Given the description of an element on the screen output the (x, y) to click on. 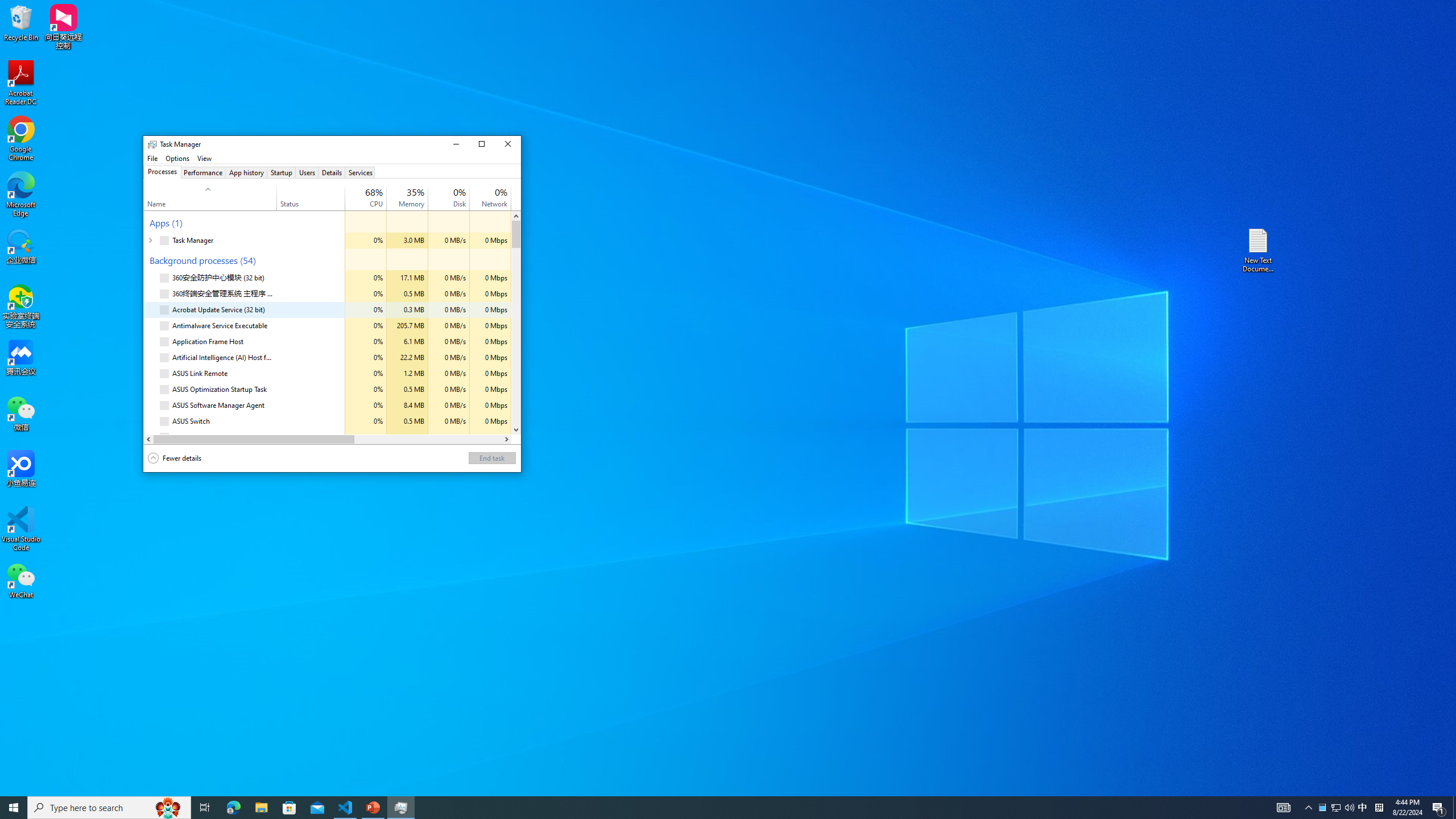
Performance (202, 171)
2% (459, 191)
Page right (427, 438)
Horizontal (327, 438)
Details (331, 171)
CPU (366, 437)
Processes (162, 171)
Application (331, 158)
Services (360, 171)
Column right (506, 438)
Options (177, 158)
